Given the description of an element on the screen output the (x, y) to click on. 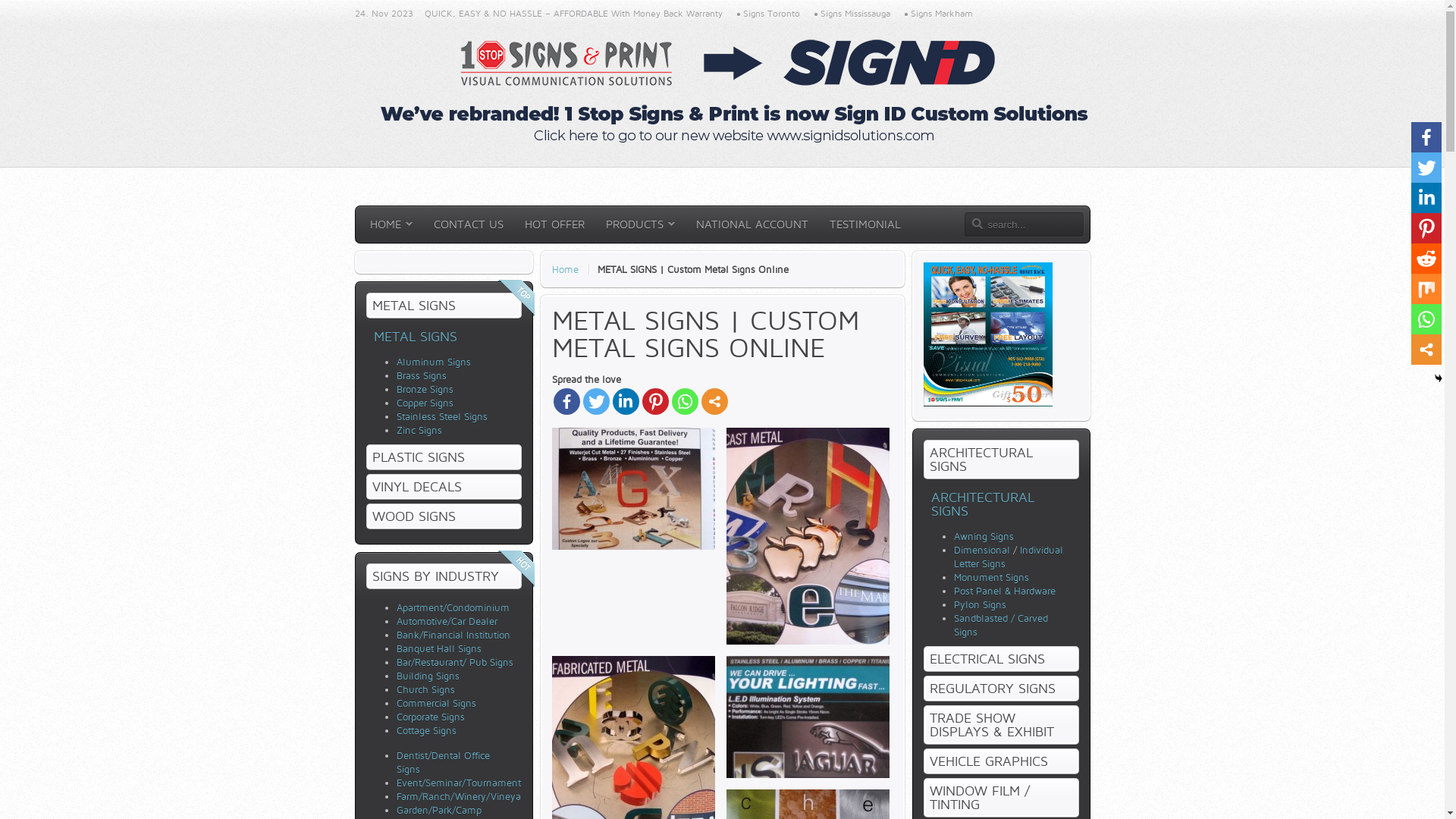
Dimensional Element type: text (981, 549)
Signs Markham Element type: text (936, 13)
IMG_4792 Element type: hover (807, 535)
IMG_4929 Element type: hover (807, 716)
Whatsapp Element type: hover (684, 401)
Aluminum Signs Element type: text (432, 361)
Building Signs Element type: text (426, 675)
Post Panel & Hardware Element type: text (1004, 590)
Bronze Signs Element type: text (423, 388)
Home Element type: text (570, 269)
Twitter Element type: hover (1426, 167)
NATIONAL ACCOUNT Element type: text (751, 224)
Stainless Steel Signs Element type: text (440, 416)
Awning Signs Element type: text (983, 536)
Sandblasted / Carved Signs Element type: text (1000, 624)
Signs Mississauga Element type: text (850, 13)
Reset Element type: text (3, 3)
Bar/Restaurant/ Pub Signs Element type: text (453, 661)
Copper Signs Element type: text (423, 402)
Event/Seminar/Tournament Element type: text (457, 782)
Signs Toronto Element type: text (767, 13)
Apartment/Condominium Element type: text (451, 607)
CONTACT US Element type: text (467, 224)
Dentist/Dental Office Signs Element type: text (442, 762)
ARCHITECTURAL SIGNS Element type: text (982, 503)
Individual Letter Signs Element type: text (1008, 556)
Pylon Signs Element type: text (979, 604)
Reddit Element type: hover (1426, 258)
Zinc Signs Element type: text (418, 429)
Banquet Hall Signs Element type: text (437, 648)
Whatsapp Element type: hover (1426, 319)
PRODUCTS Element type: text (640, 224)
Cottage Signs Element type: text (425, 730)
Church Signs Element type: text (424, 689)
Twitter Element type: hover (595, 401)
Corporate Signs Element type: text (429, 716)
Mix Element type: hover (1426, 288)
Facebook Element type: hover (1426, 137)
TESTIMONIAL Element type: text (864, 224)
IMG_4416 Element type: hover (633, 488)
HOT OFFER Element type: text (553, 224)
Facebook Element type: hover (566, 401)
More Element type: hover (1426, 349)
Pinterest Element type: hover (1426, 228)
Hide Element type: hover (1438, 378)
More Element type: hover (713, 401)
Linkedin Element type: hover (625, 401)
Monument Signs Element type: text (991, 577)
Farm/Ranch/Winery/Vineyard Element type: text (461, 796)
Pinterest Element type: hover (654, 401)
Linkedin Element type: hover (1426, 197)
Brass Signs Element type: text (420, 375)
Commercial Signs Element type: text (435, 702)
HOME Element type: text (390, 224)
Automotive/Car Dealer Element type: text (445, 621)
Bank/Financial Institution Element type: text (452, 634)
METAL SIGNS Element type: text (414, 336)
